Given the description of an element on the screen output the (x, y) to click on. 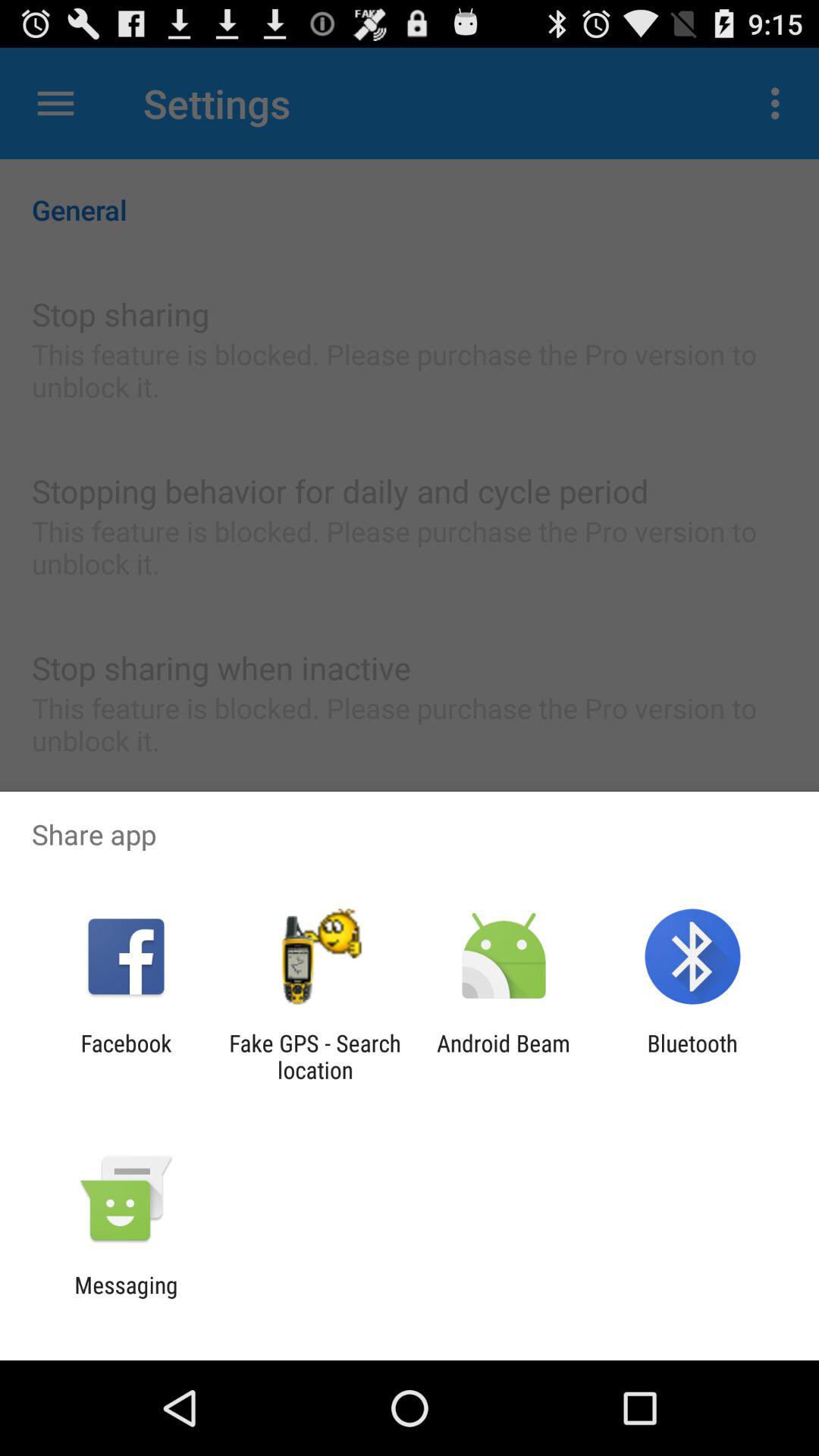
launch android beam app (503, 1056)
